Given the description of an element on the screen output the (x, y) to click on. 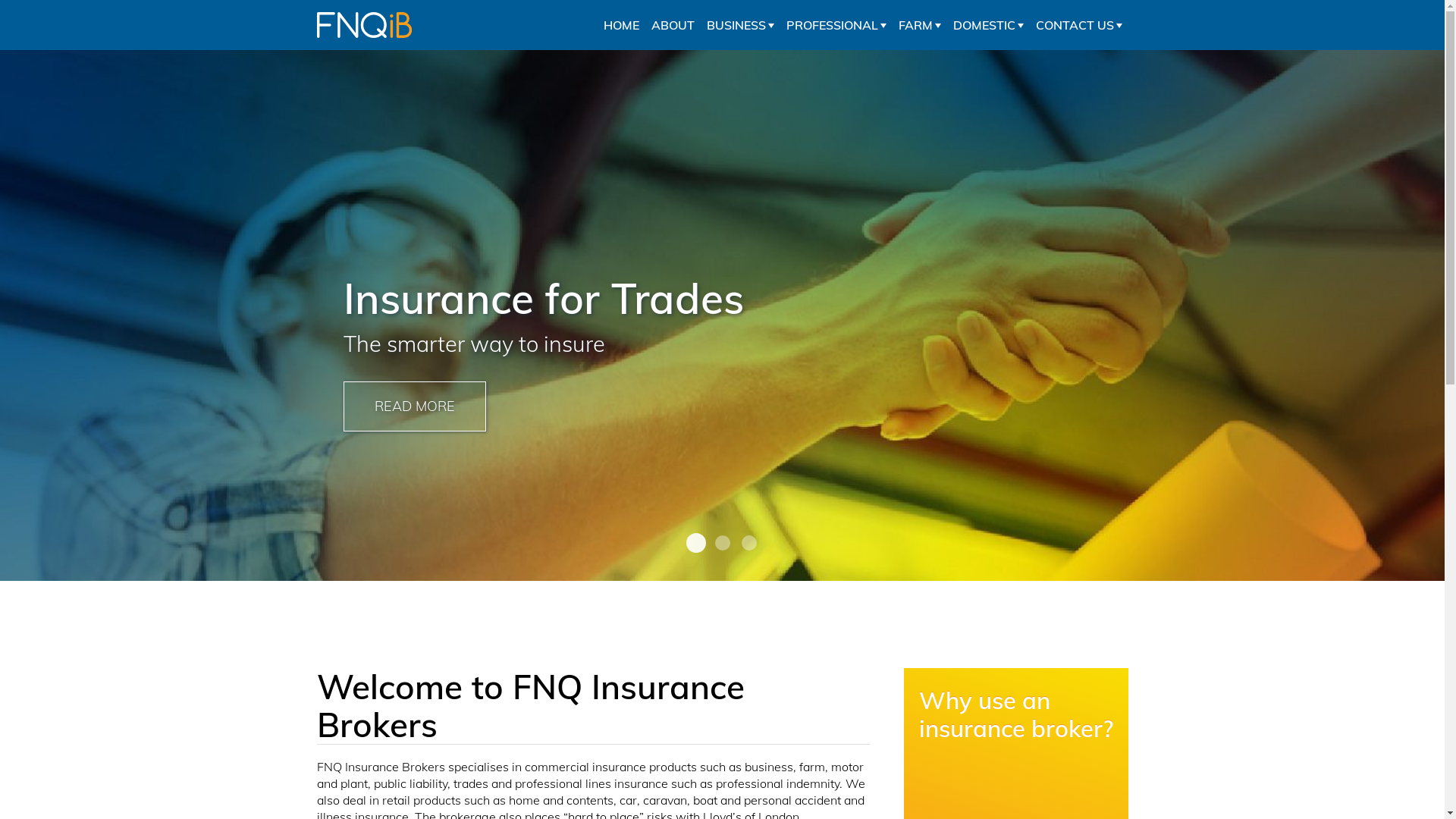
Demo 3 Element type: text (721, 542)
ABOUT Element type: text (671, 24)
Demo 2 Element type: text (748, 542)
FARM Element type: text (918, 24)
READ MORE Element type: text (413, 406)
BUSINESS Element type: text (740, 24)
HOME Element type: text (621, 24)
PROFESSIONAL Element type: text (835, 24)
Demo 1 Element type: text (692, 540)
CONTACT US Element type: text (1078, 24)
DOMESTIC Element type: text (987, 24)
